Given the description of an element on the screen output the (x, y) to click on. 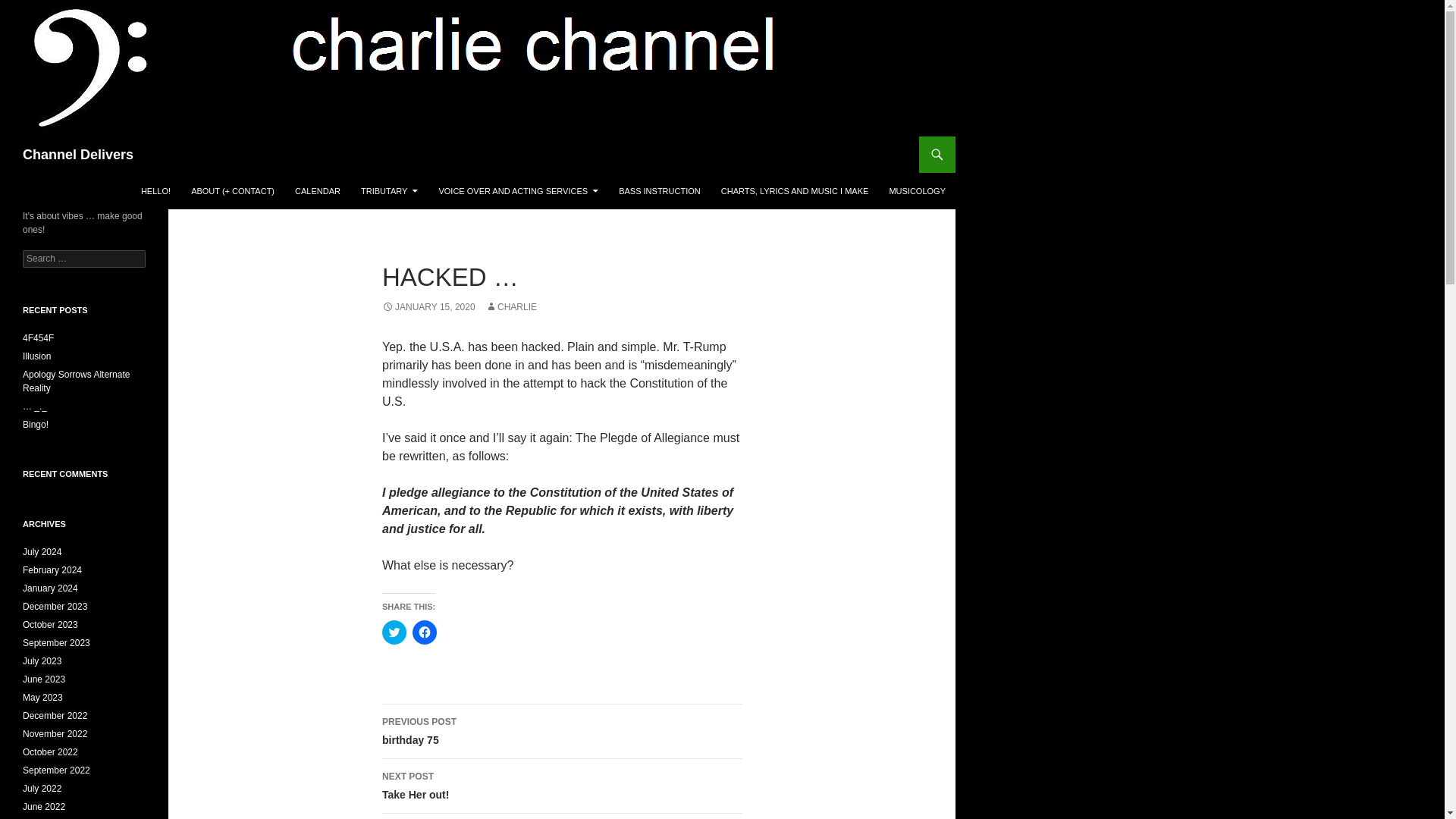
Illusion (36, 356)
TRIBUTARY (389, 190)
Bingo! (35, 424)
Search (30, 8)
CHARLIE (510, 307)
Apology Sorrows Alternate Reality (76, 381)
4F454F (38, 337)
CALENDAR (317, 190)
